Given the description of an element on the screen output the (x, y) to click on. 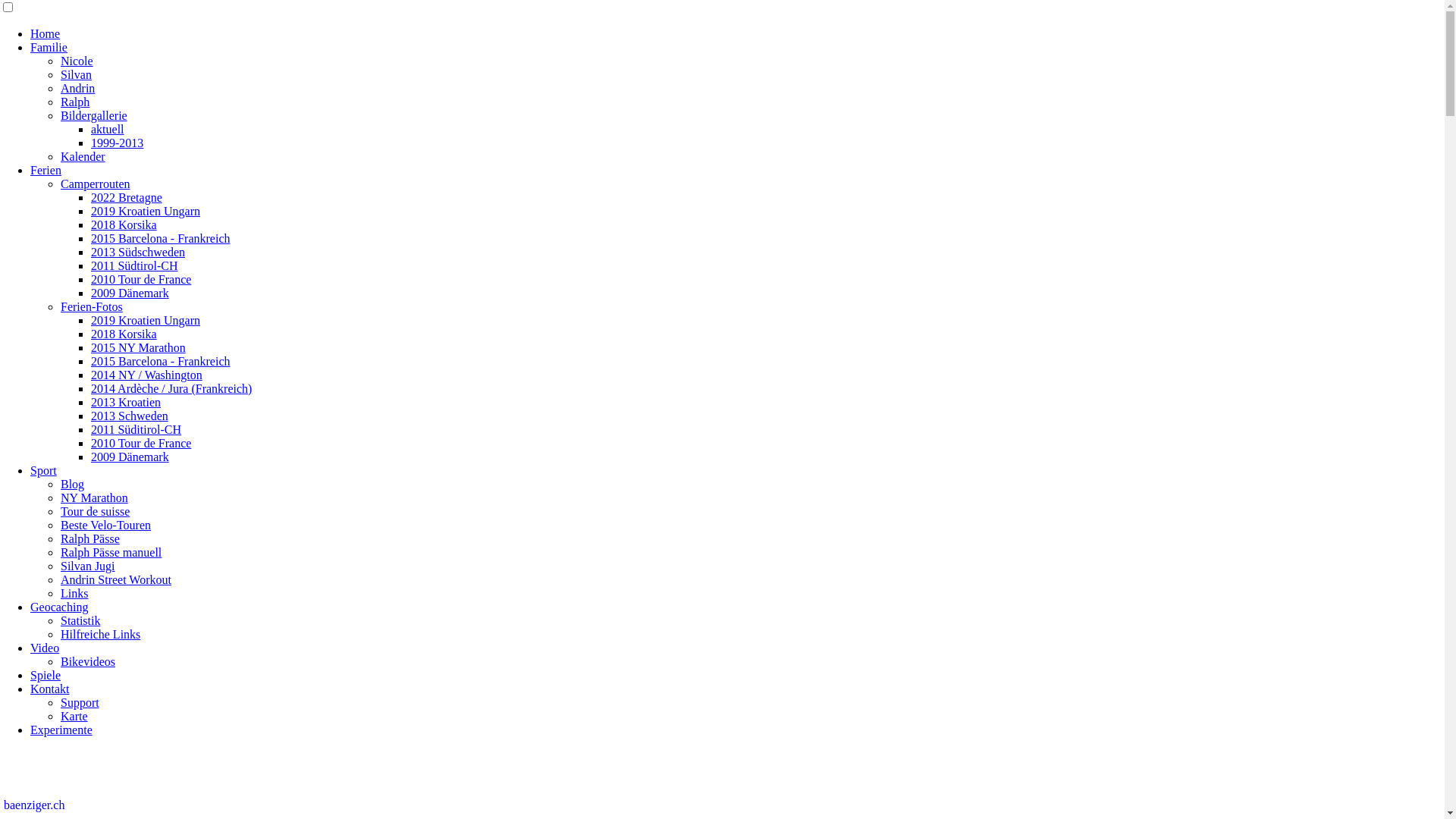
2015 Barcelona - Frankreich Element type: text (160, 360)
2015 NY Marathon Element type: text (138, 347)
2010 Tour de France Element type: text (141, 279)
Kalender Element type: text (82, 156)
baenziger.ch Element type: text (33, 804)
2018 Korsika Element type: text (123, 333)
2013 Kroatien Element type: text (125, 401)
Andrin Element type: text (77, 87)
Familie Element type: text (48, 46)
Camperrouten Element type: text (95, 183)
Kontakt Element type: text (49, 688)
Beste Velo-Touren Element type: text (105, 524)
aktuell Element type: text (107, 128)
Bikevideos Element type: text (87, 661)
Sport Element type: text (43, 470)
Karte Element type: text (73, 715)
Ralph Element type: text (74, 101)
NY Marathon Element type: text (94, 497)
2019 Kroatien Ungarn Element type: text (145, 319)
2013 Schweden Element type: text (129, 415)
Experimente Element type: text (61, 729)
Ferien-Fotos Element type: text (91, 306)
Andrin Street Workout Element type: text (115, 579)
Blog Element type: text (72, 483)
Silvan Jugi Element type: text (87, 565)
Spiele Element type: text (45, 674)
2015 Barcelona - Frankreich Element type: text (160, 238)
Nicole Element type: text (76, 60)
Hilfreiche Links Element type: text (100, 633)
1999-2013 Element type: text (117, 142)
Statistik Element type: text (80, 620)
Ferien Element type: text (45, 169)
2014 NY / Washington Element type: text (146, 374)
Video Element type: text (44, 647)
2010 Tour de France Element type: text (141, 442)
Support Element type: text (79, 702)
2022 Bretagne Element type: text (126, 197)
Tour de suisse Element type: text (94, 511)
Home Element type: text (44, 33)
Links Element type: text (73, 592)
2018 Korsika Element type: text (123, 224)
2019 Kroatien Ungarn Element type: text (145, 210)
Geocaching Element type: text (58, 606)
Bildergallerie Element type: text (93, 115)
Silvan Element type: text (75, 74)
